Given the description of an element on the screen output the (x, y) to click on. 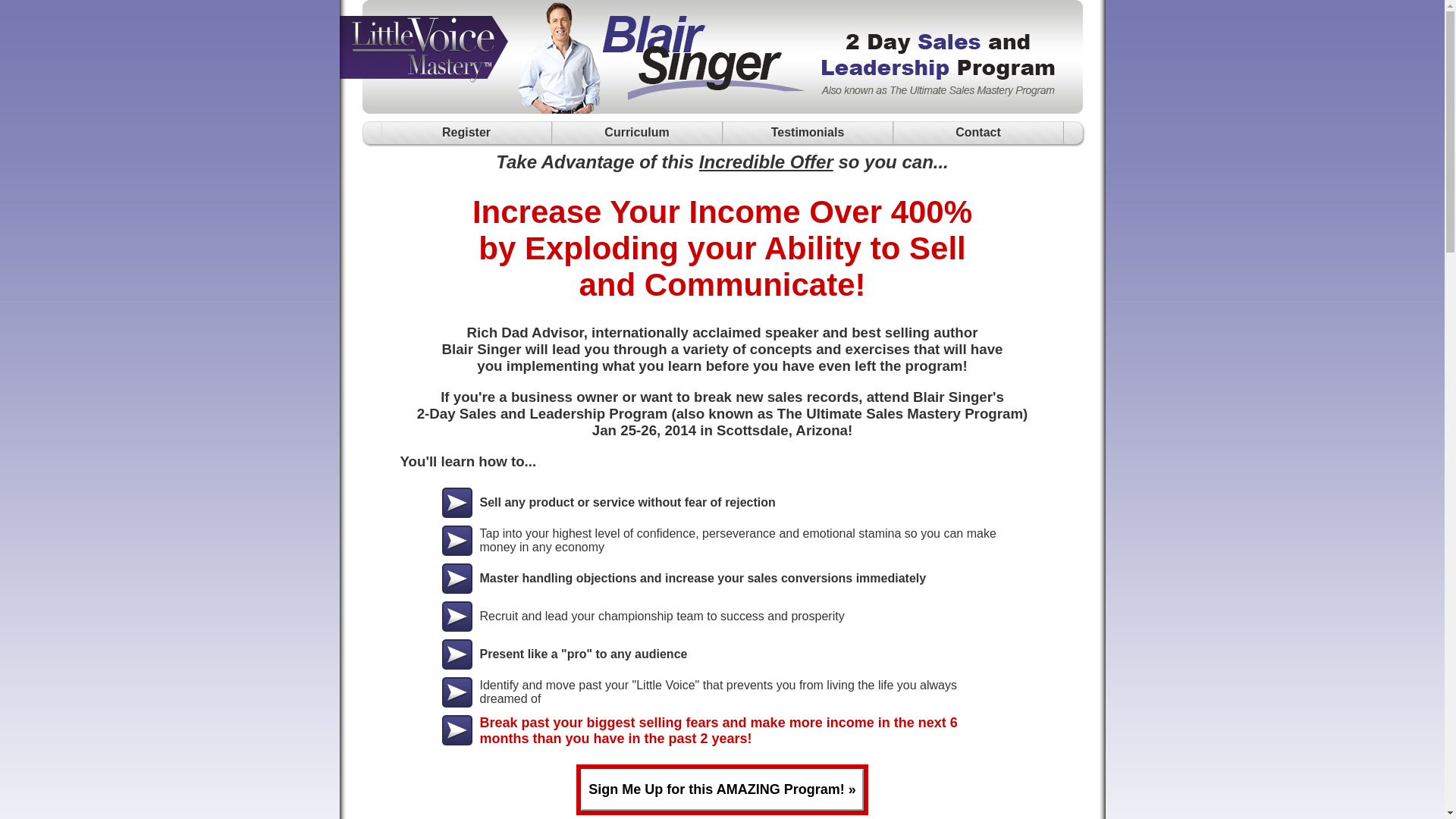
Testimonials Element type: text (806, 132)
Contact Element type: text (978, 132)
Register Element type: text (465, 132)
Curriculum Element type: text (637, 132)
